Given the description of an element on the screen output the (x, y) to click on. 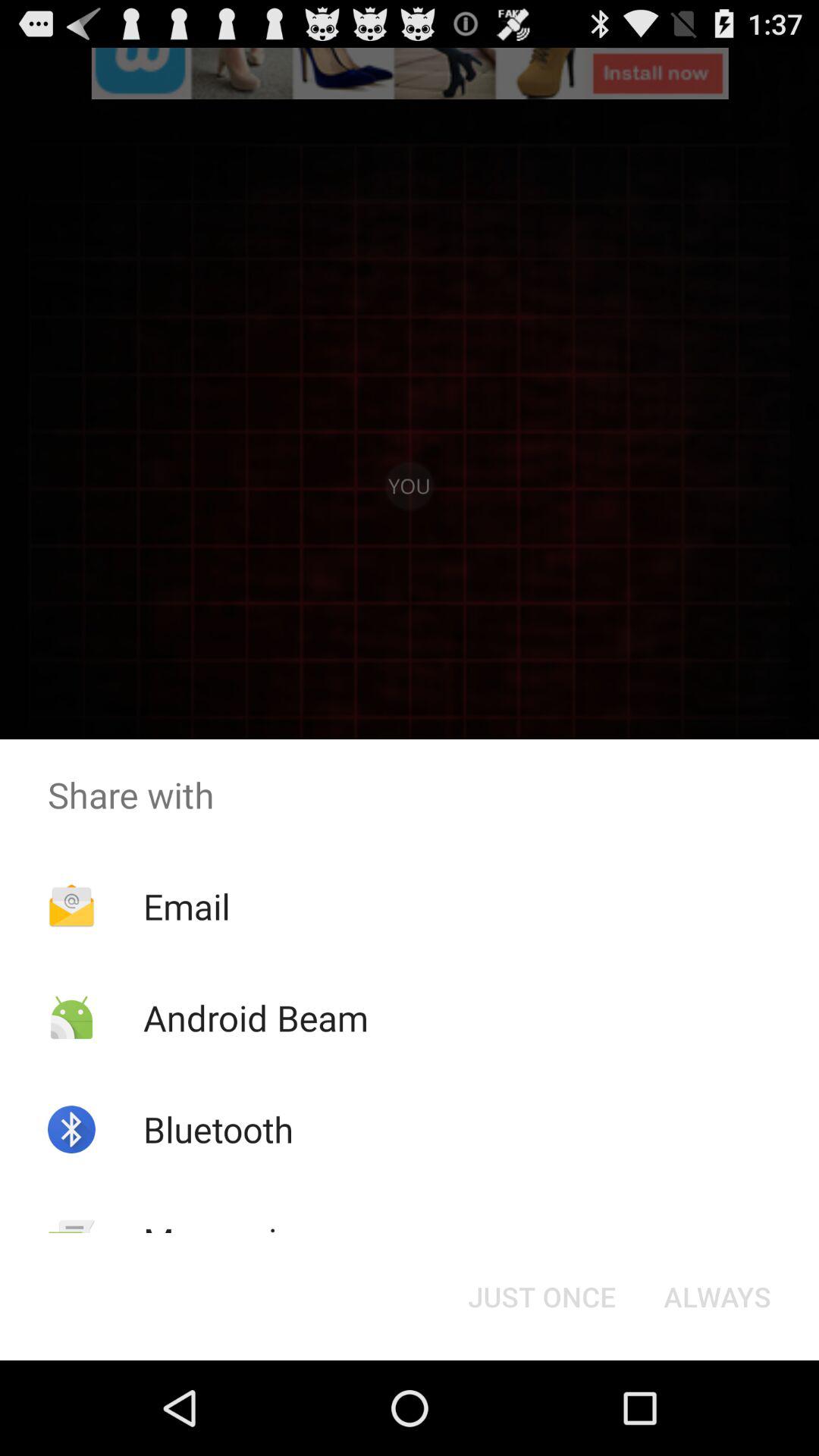
flip to the email icon (186, 906)
